Given the description of an element on the screen output the (x, y) to click on. 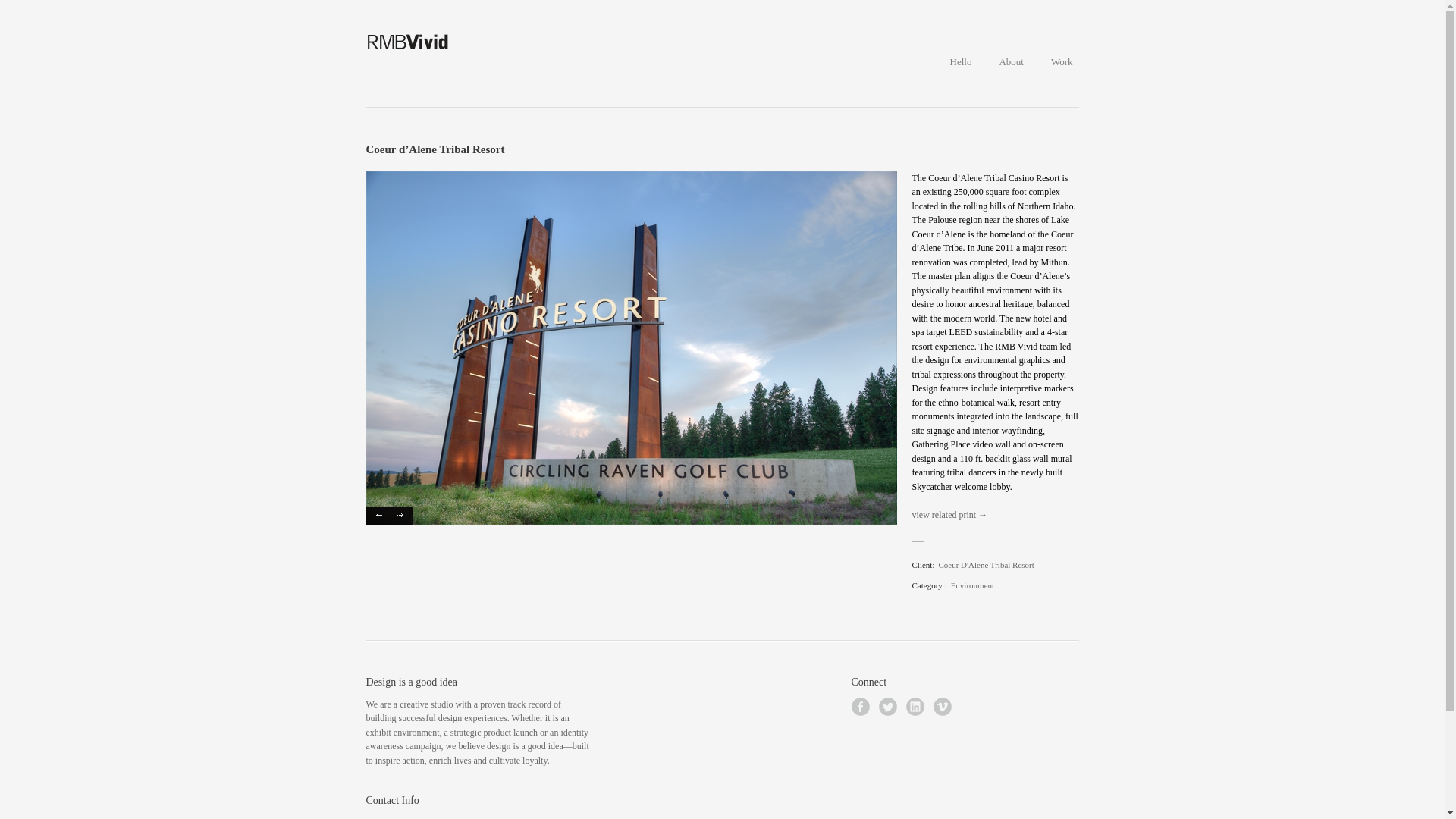
Work (1061, 62)
About (1010, 62)
Previous (414, 818)
Next (376, 515)
Coeur d'Alene Tribal Resort (401, 515)
Hello (949, 514)
